Given the description of an element on the screen output the (x, y) to click on. 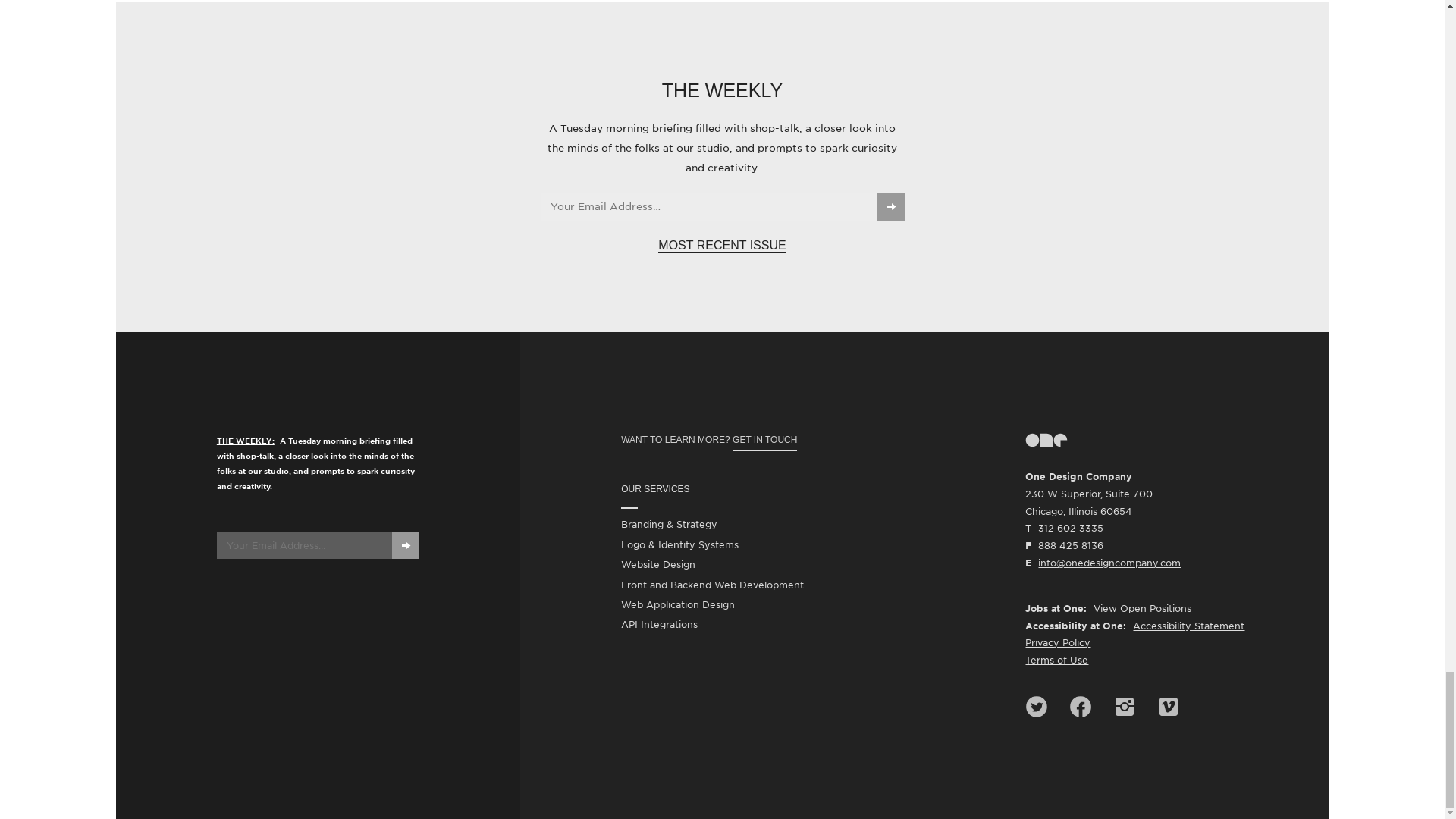
WANT TO LEARN MORE? GET IN TOUCH (772, 440)
View Open Positions (1142, 608)
Accessibility Statement (1188, 625)
Facebook (1080, 706)
Web Application Design (678, 605)
Front and Backend Web Development (712, 585)
THE WEEKLY: (247, 440)
API Integrations (659, 624)
Subscribe (405, 544)
Twitter (1036, 706)
Subscribe (890, 206)
Privacy Policy (1057, 642)
Terms of Use (1056, 659)
Subscribe (405, 544)
MOST RECENT ISSUE (722, 246)
